Given the description of an element on the screen output the (x, y) to click on. 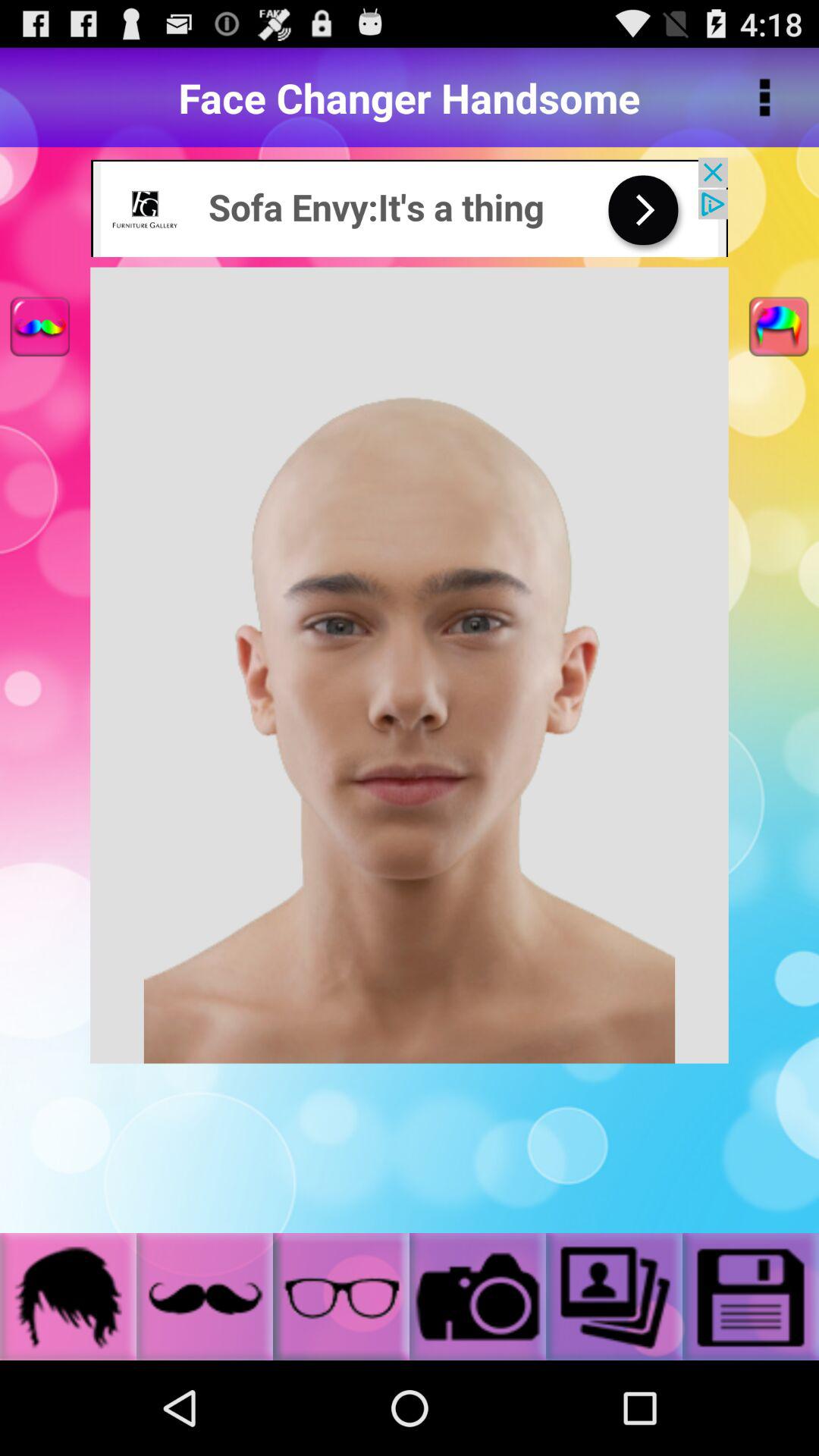
go to save (750, 1296)
